Given the description of an element on the screen output the (x, y) to click on. 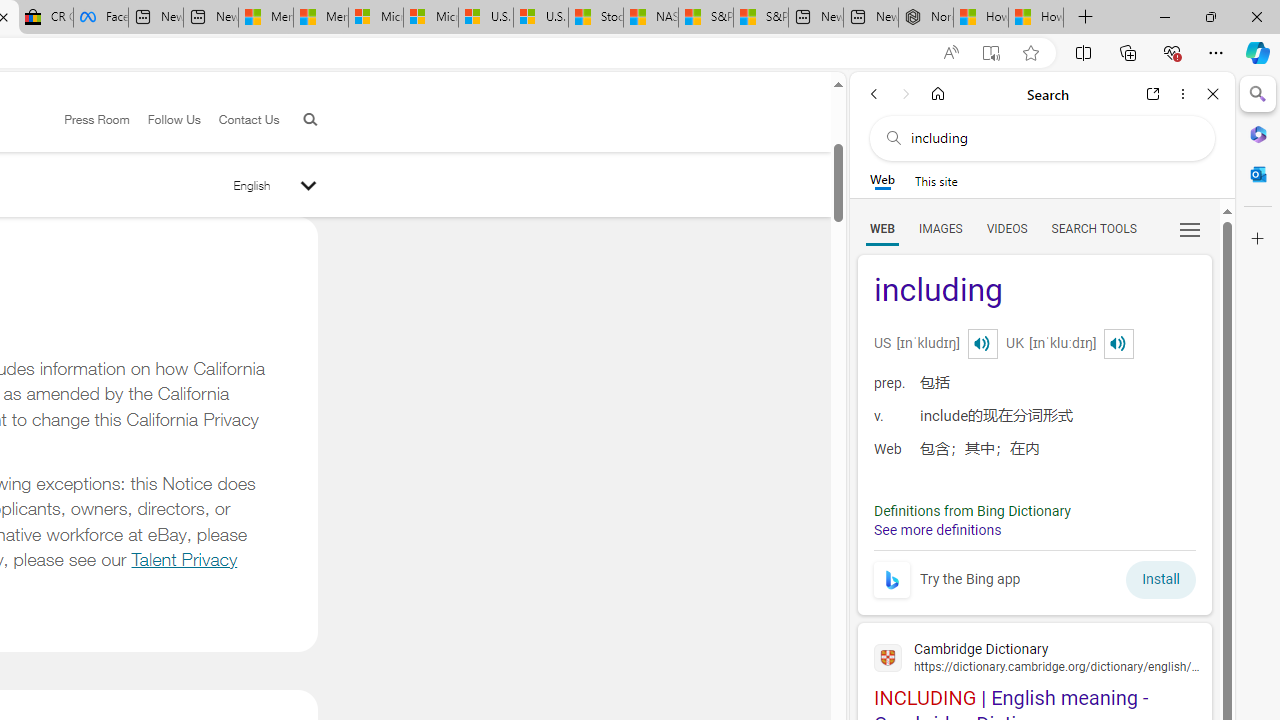
S&P 500, Nasdaq end lower, weighed by Nvidia dip | Watch (760, 17)
Global web icon (888, 658)
Web scope (882, 180)
Cambridge Dictionary (1034, 656)
Class: b_serphb (1190, 229)
IMAGES (939, 228)
WEB   (882, 228)
